Given the description of an element on the screen output the (x, y) to click on. 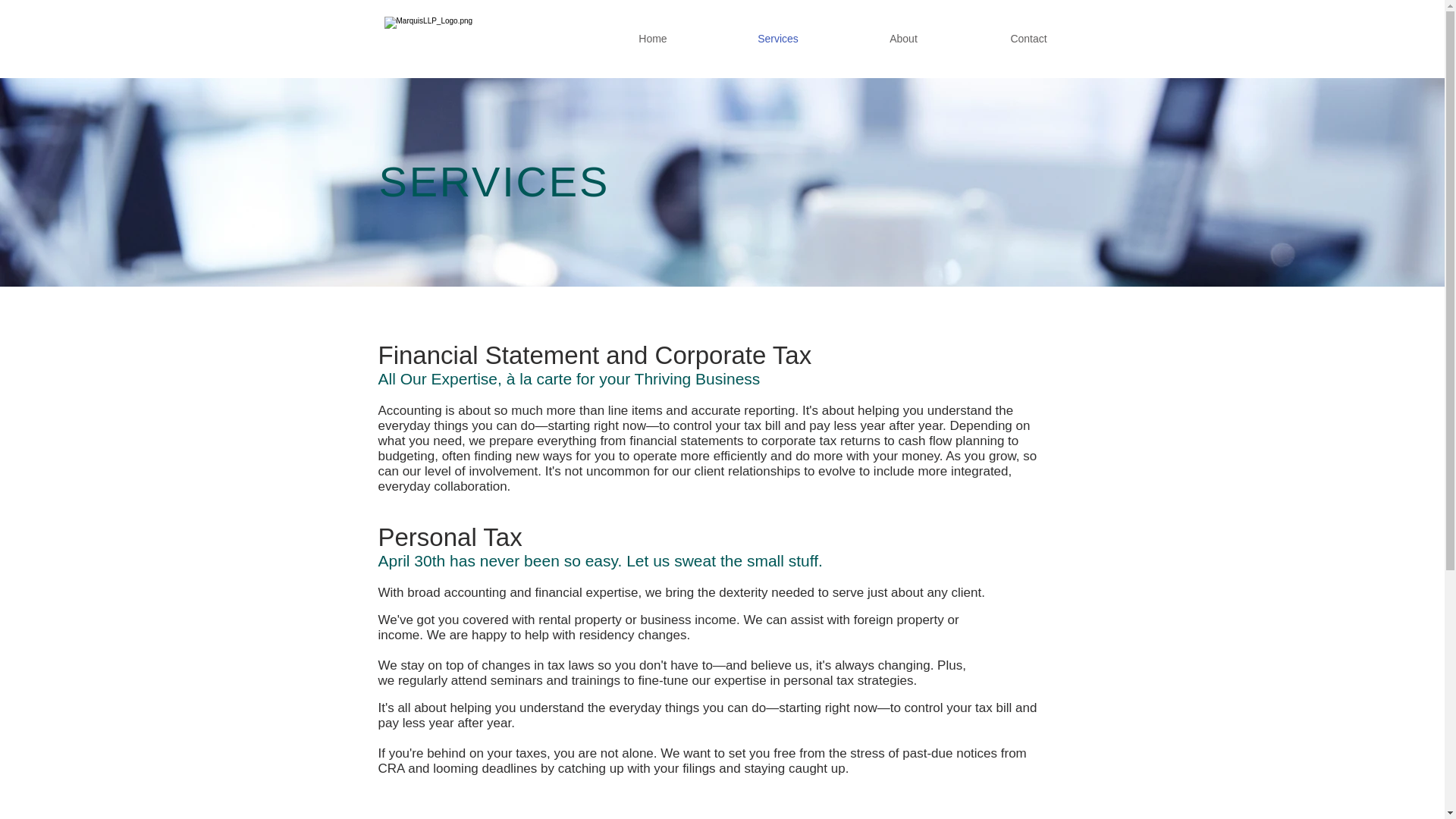
Contact (1028, 38)
Services (778, 38)
About (903, 38)
Home (652, 38)
